Given the description of an element on the screen output the (x, y) to click on. 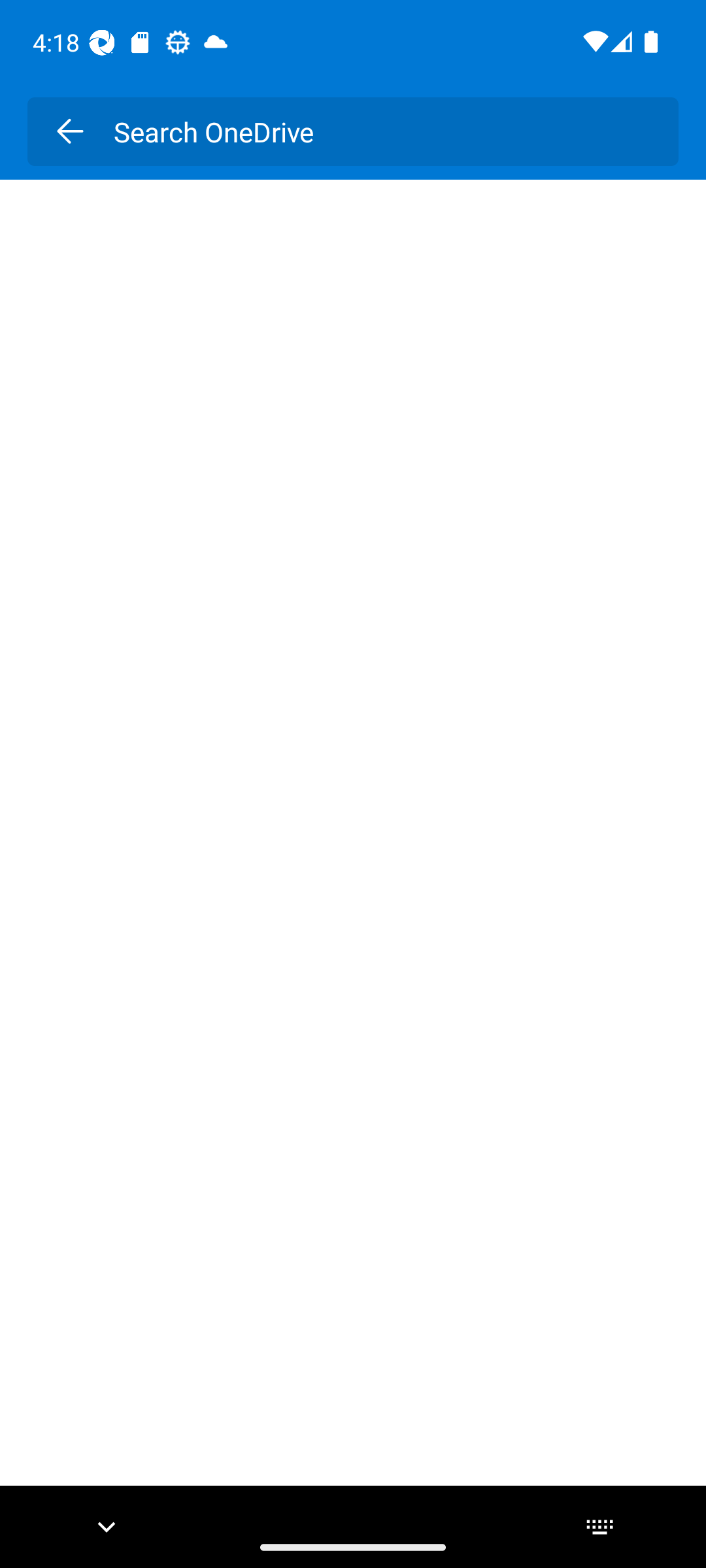
Navigate Up (69, 131)
Search OneDrive (382, 131)
